Given the description of an element on the screen output the (x, y) to click on. 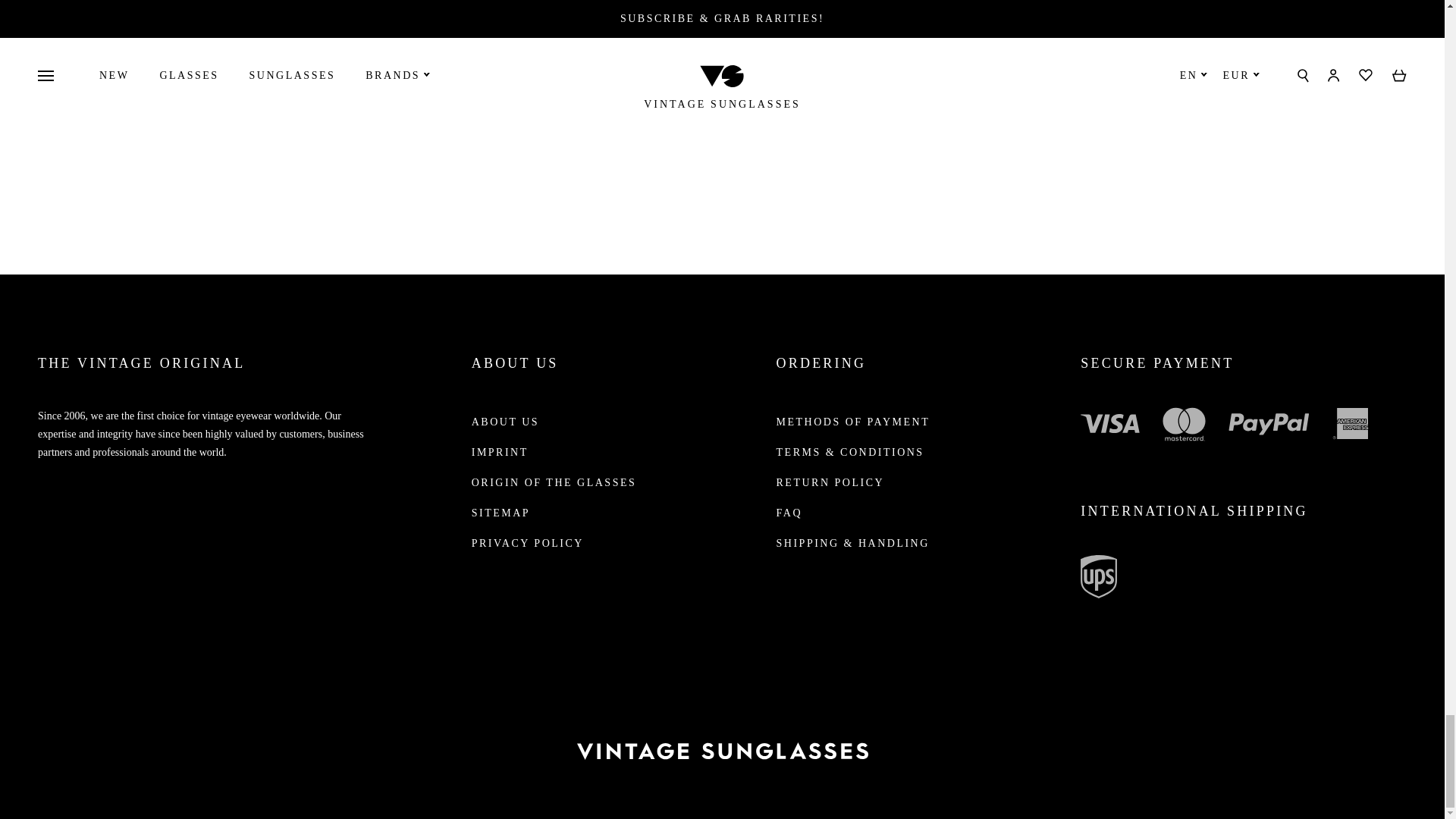
ABOUT US (712, 42)
